Given the description of an element on the screen output the (x, y) to click on. 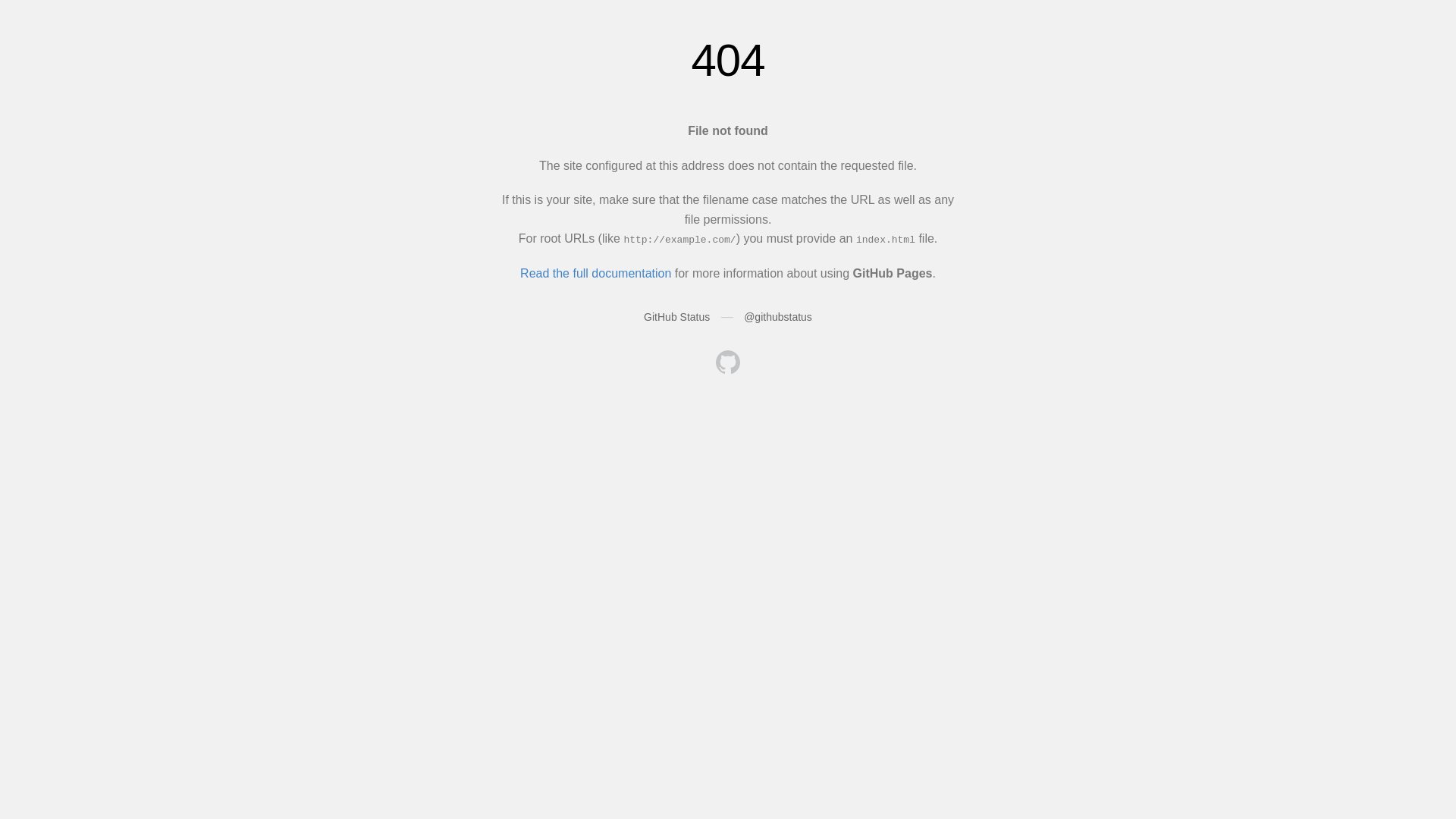
@githubstatus Element type: text (777, 316)
GitHub Status Element type: text (676, 316)
Read the full documentation Element type: text (595, 272)
